Given the description of an element on the screen output the (x, y) to click on. 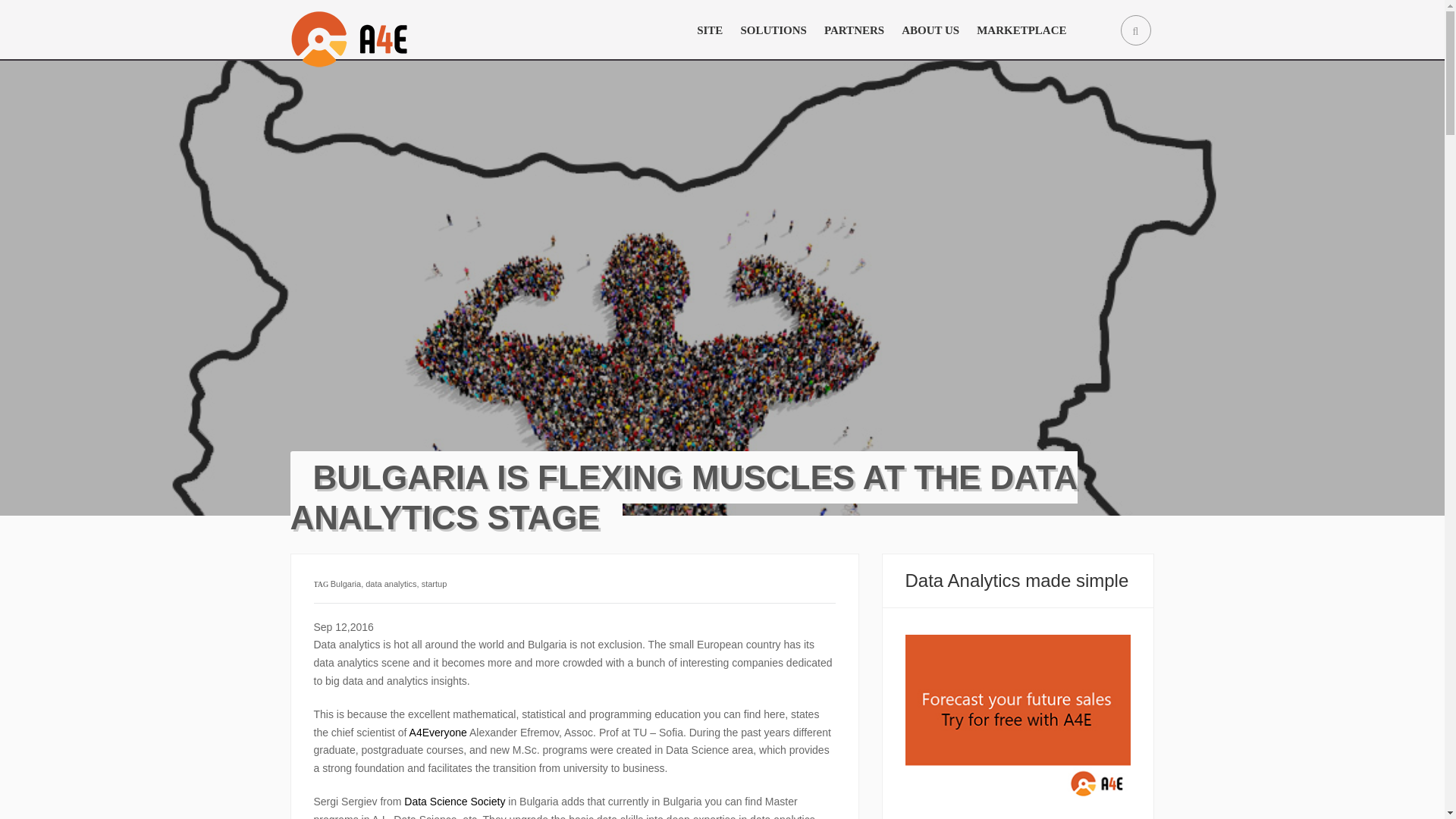
Sep 12,2016 (344, 626)
PARTNERS (853, 30)
startup (434, 583)
A4E Blog (381, 30)
SOLUTIONS (773, 30)
ABOUT US (930, 30)
11:14 am (344, 626)
MARKETPLACE (1021, 30)
Data Science Society (454, 801)
Bulgaria (345, 583)
